Given the description of an element on the screen output the (x, y) to click on. 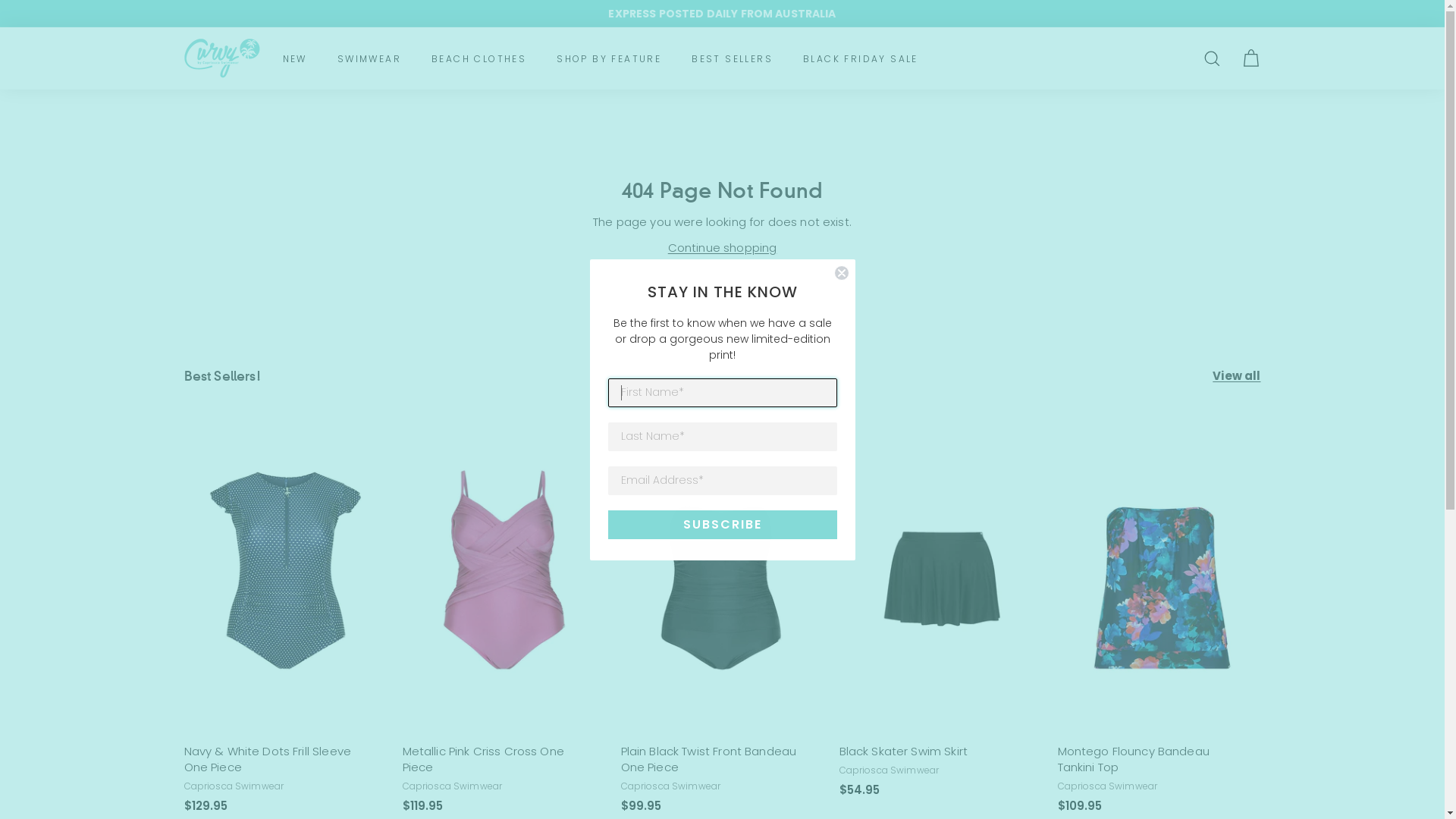
Submit Element type: text (28, 15)
Skip to content Element type: text (0, 0)
BEACH CLOTHES Element type: text (478, 58)
SWIMWEAR Element type: text (369, 58)
BEST SELLERS Element type: text (731, 58)
EXPRESS POSTED DAILY FROM AUSTRALIA Element type: text (721, 13)
Black Skater Swim Skirt
Capriosca Swimwear
$54.95
$54.95 Element type: text (939, 618)
Continue shopping Element type: text (722, 247)
SHOP BY FEATURE Element type: text (608, 58)
View all Element type: text (1236, 376)
BLACK FRIDAY SALE Element type: text (860, 58)
SUBSCRIBE Element type: text (722, 523)
NEW Element type: text (293, 58)
SEARCH Element type: text (1211, 58)
